Given the description of an element on the screen output the (x, y) to click on. 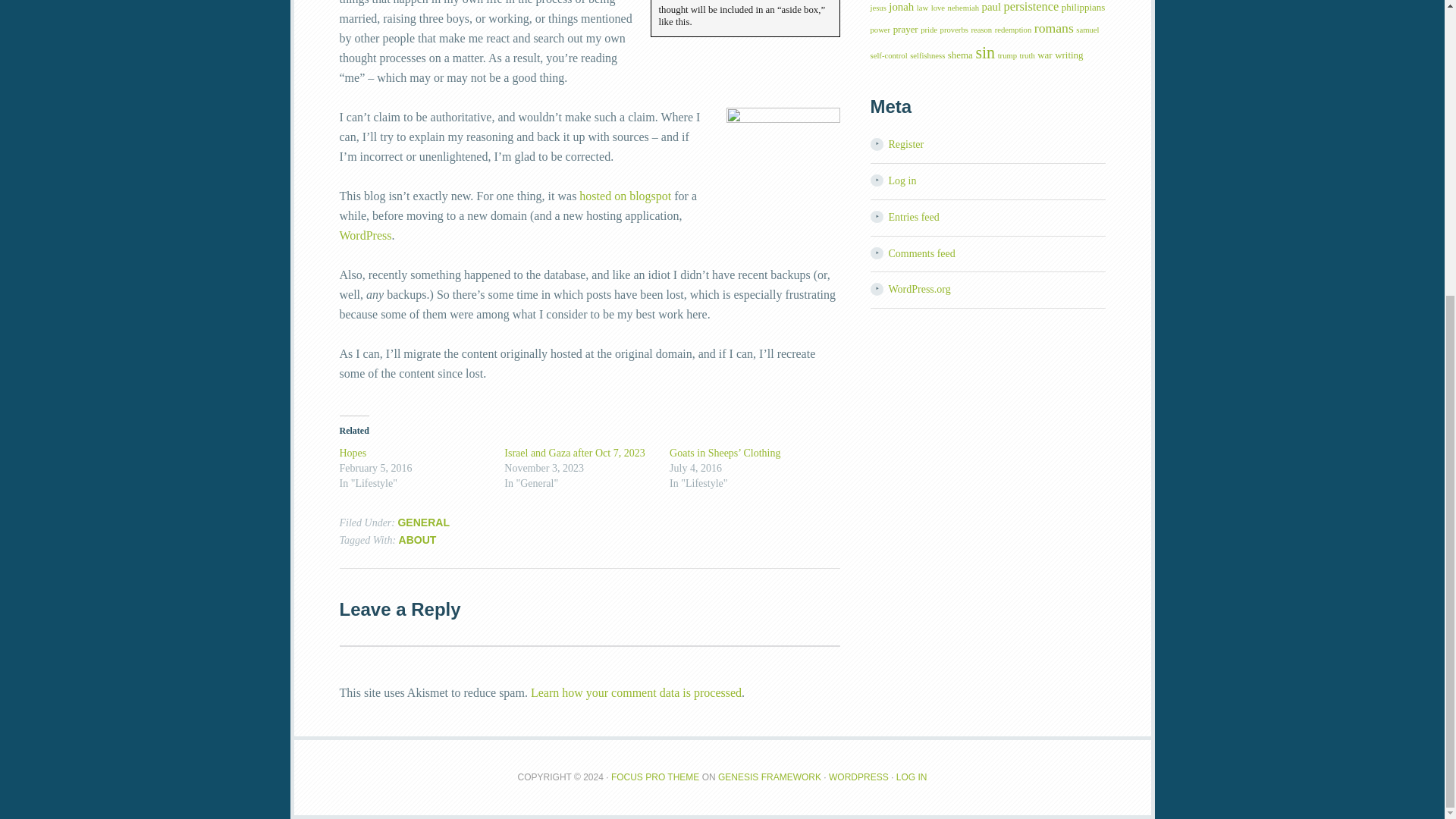
GENERAL (422, 522)
Israel and Gaza after Oct 7, 2023 (574, 452)
ABOUT (417, 539)
Learn how your comment data is processed (636, 692)
hosted on blogspot (625, 195)
Hopes (352, 452)
Israel and Gaza after Oct 7, 2023 (574, 452)
Hourglass (783, 164)
WordPress (365, 235)
Hopes (352, 452)
